Given the description of an element on the screen output the (x, y) to click on. 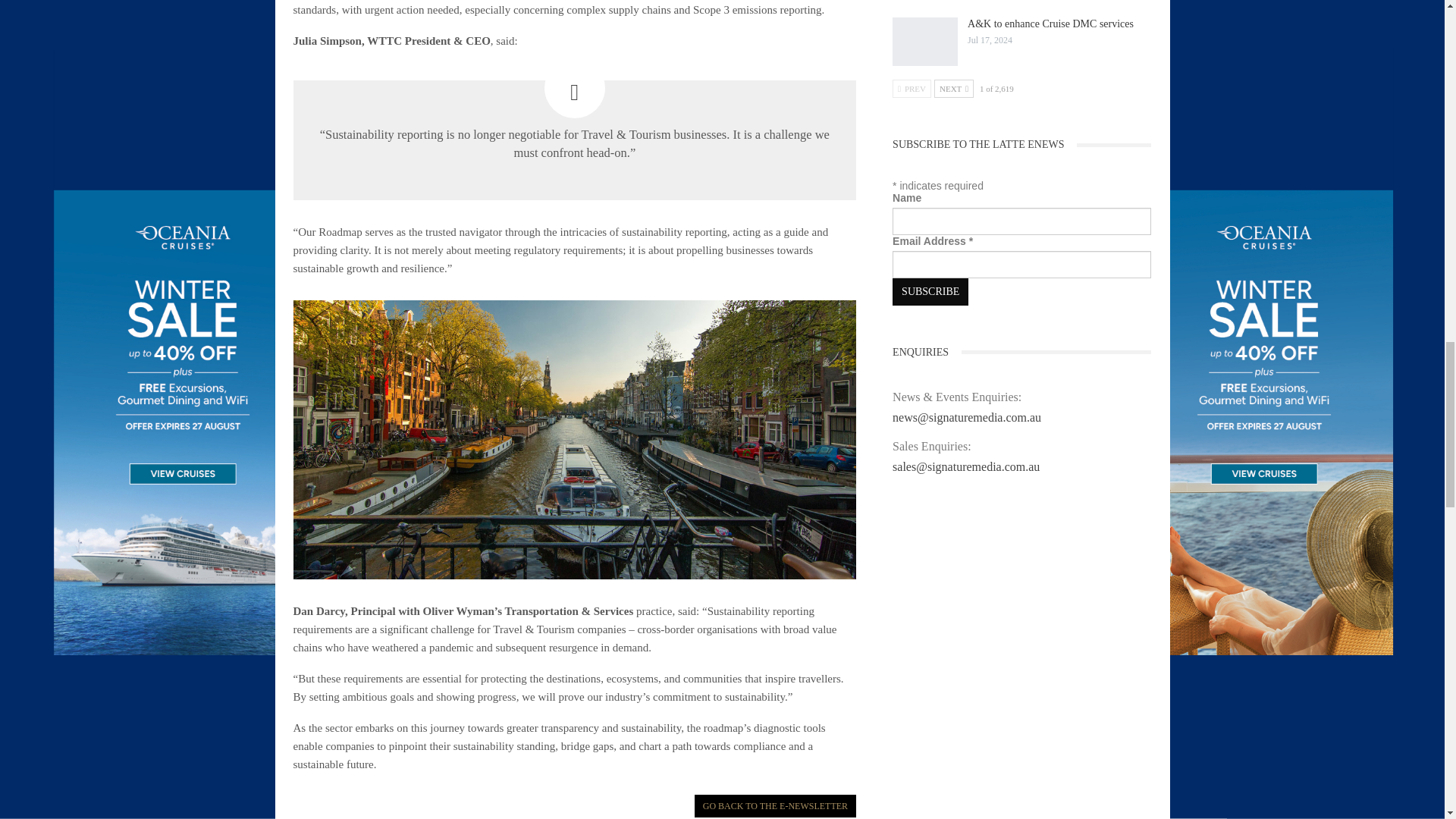
Subscribe (930, 291)
